Given the description of an element on the screen output the (x, y) to click on. 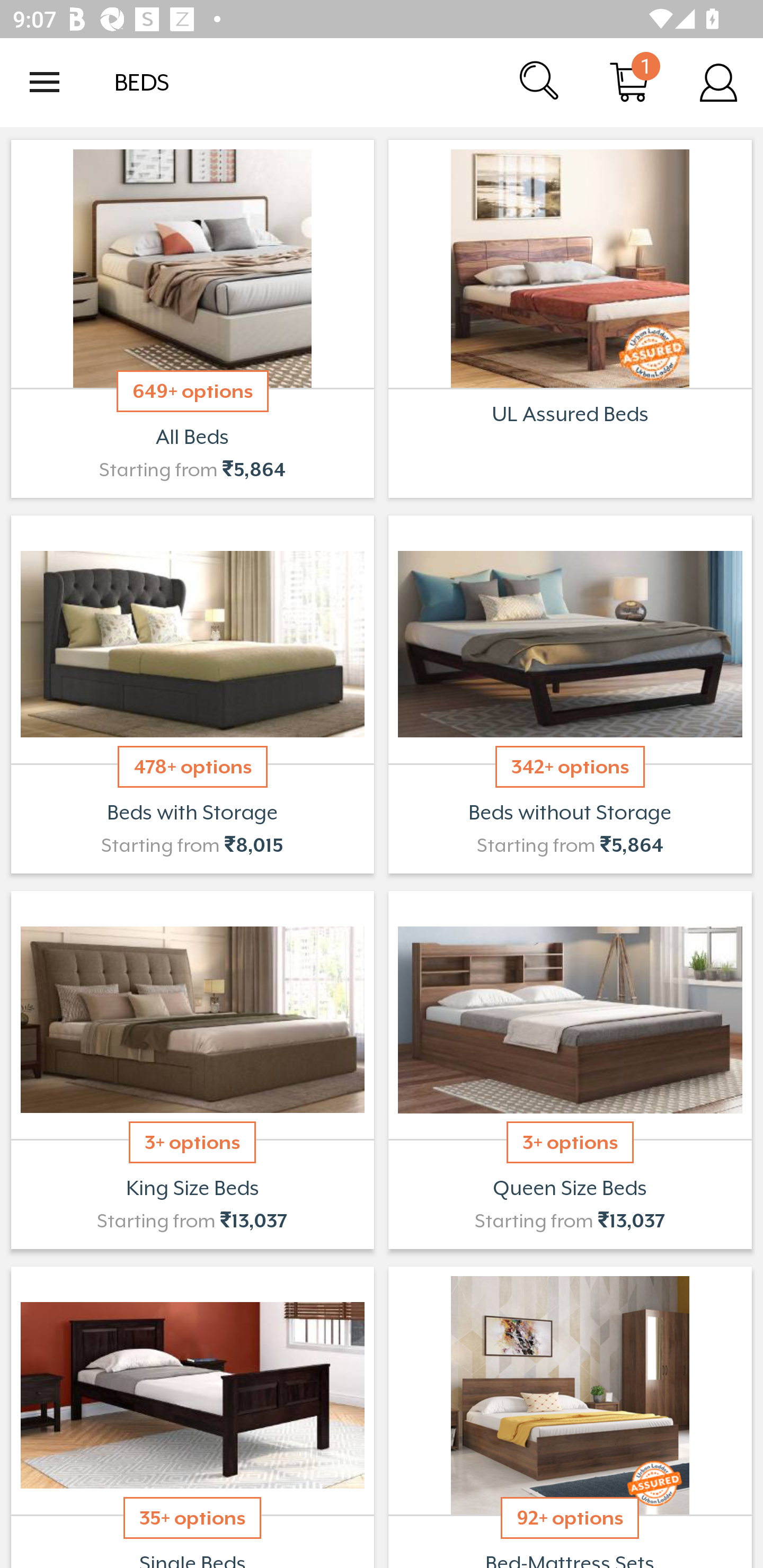
Open navigation drawer (44, 82)
Search (540, 81)
Cart (629, 81)
Account Details (718, 81)
649+ options All Beds Starting from  ₹5,864 (191, 318)
UL Assured Beds (570, 318)
3+ options King Size Beds Starting from  ₹13,037 (191, 1069)
3+ options Queen Size Beds Starting from  ₹13,037 (570, 1069)
35+ options Single Beds (191, 1415)
92+ options Bed-Mattress Sets (570, 1415)
